Given the description of an element on the screen output the (x, y) to click on. 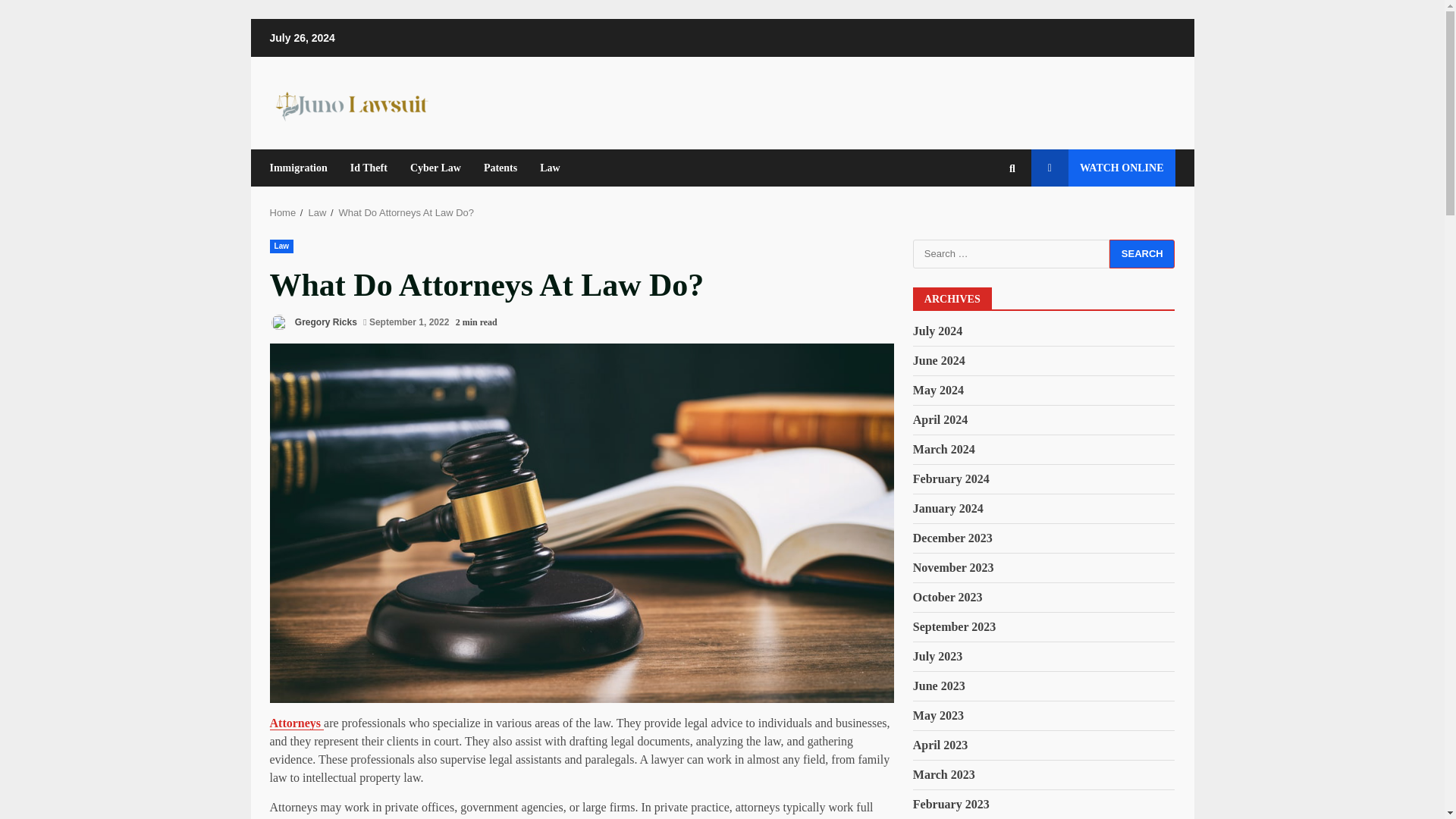
June 2024 (938, 359)
Search (984, 219)
July 2024 (937, 330)
March 2024 (943, 449)
Gregory Ricks (312, 322)
Cyber Law (434, 167)
April 2024 (940, 419)
Search (1141, 253)
Id Theft (368, 167)
May 2024 (937, 390)
Law (281, 246)
February 2024 (951, 478)
December 2023 (952, 537)
Search (1141, 253)
Search (1141, 253)
